Given the description of an element on the screen output the (x, y) to click on. 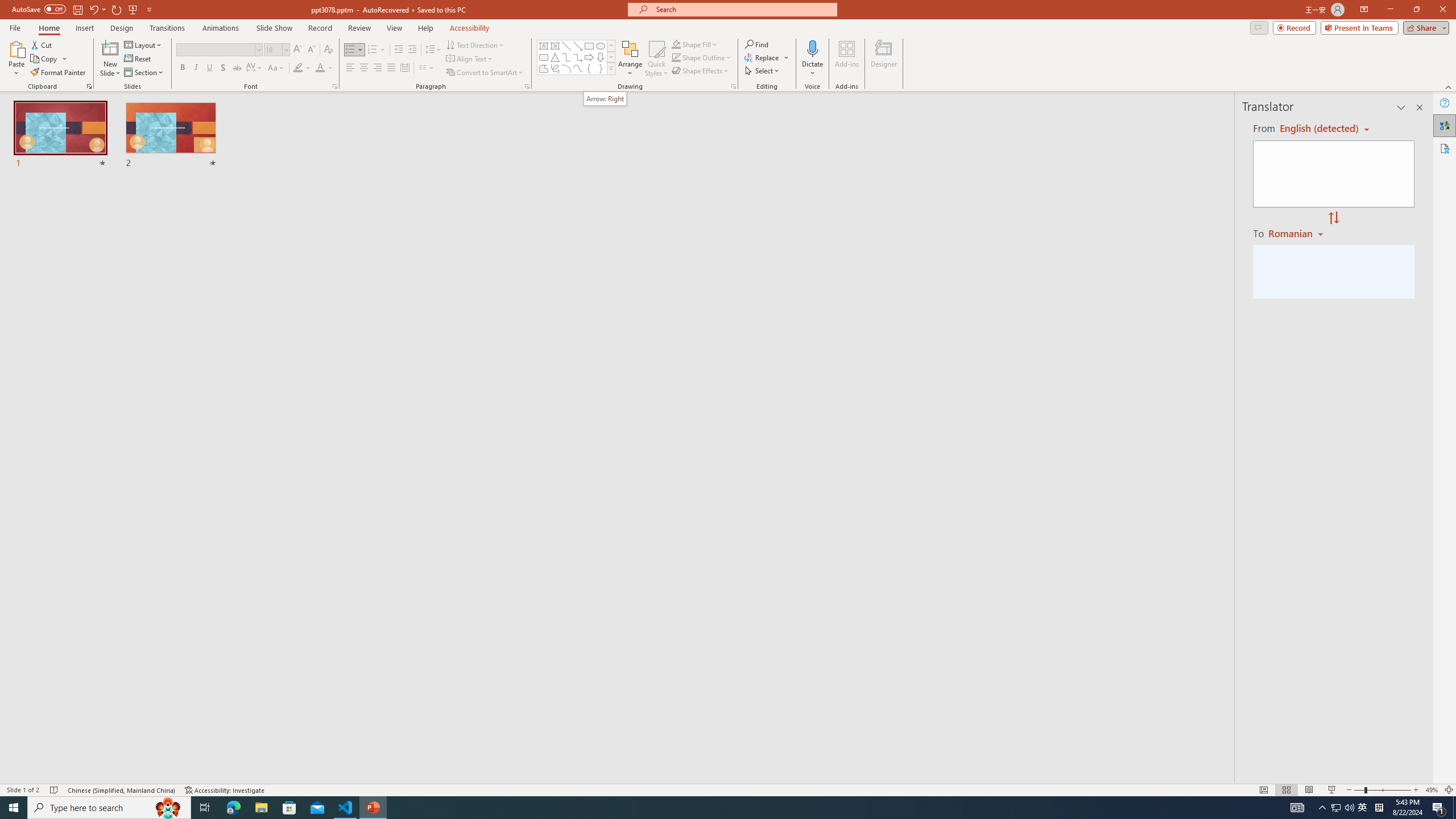
Czech (detected) (1319, 128)
